Given the description of an element on the screen output the (x, y) to click on. 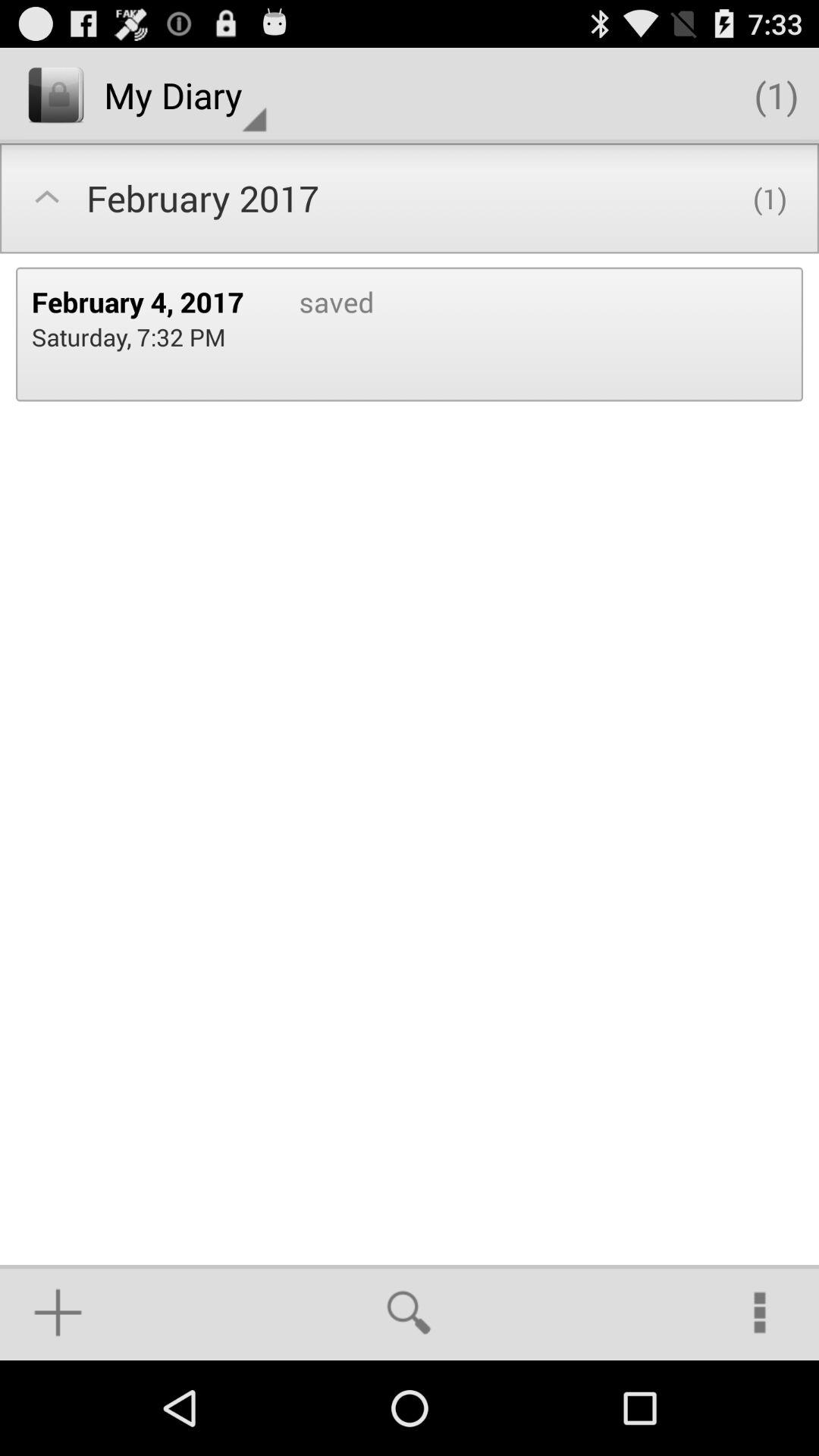
launch the icon to the left of the (1) item (185, 95)
